Given the description of an element on the screen output the (x, y) to click on. 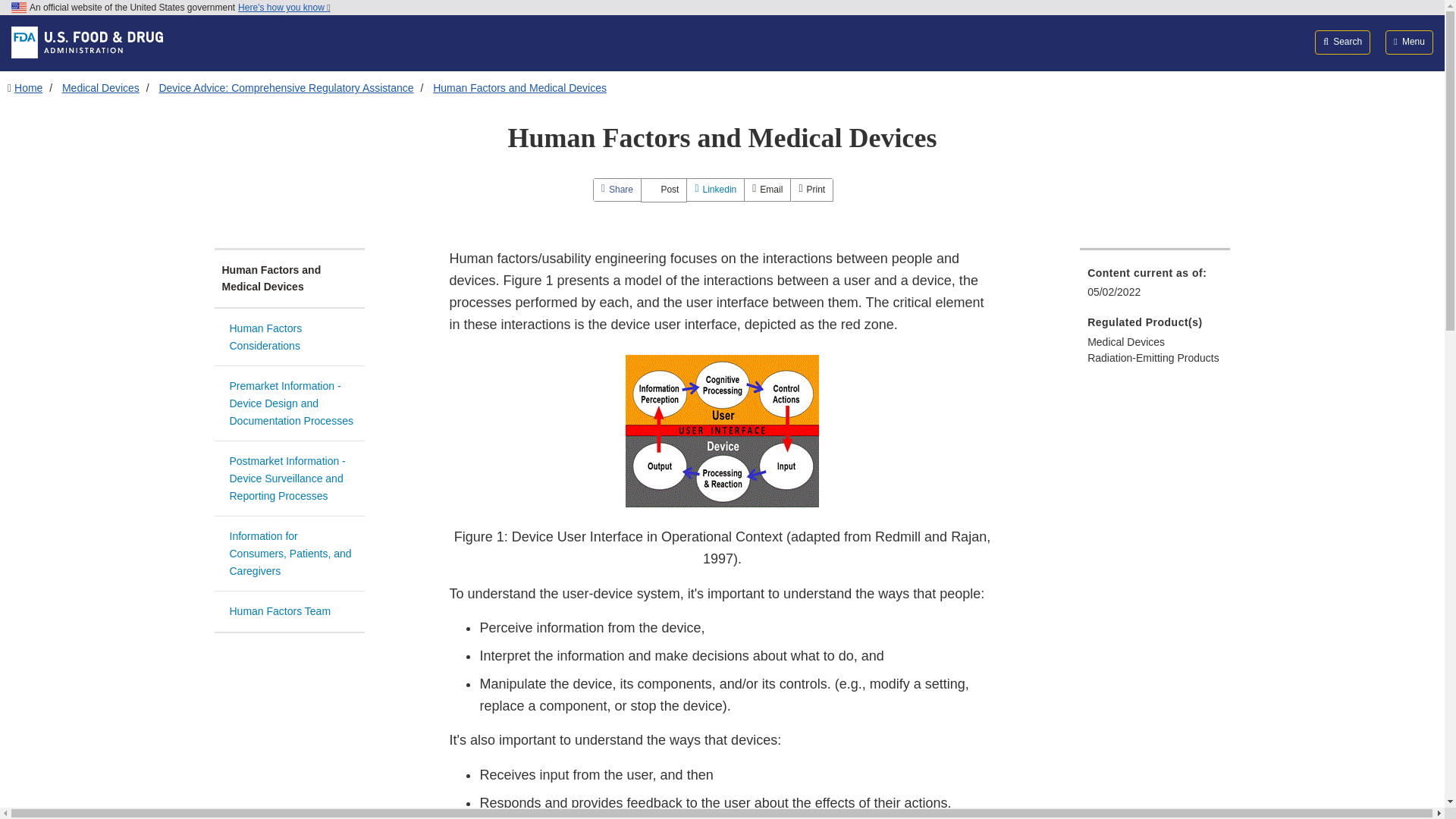
  Menu (1409, 42)
Figure 1, as described in the text. (722, 430)
Print this page (811, 189)
  Search (1342, 42)
Figure 1, as described in the text. (721, 430)
